Given the description of an element on the screen output the (x, y) to click on. 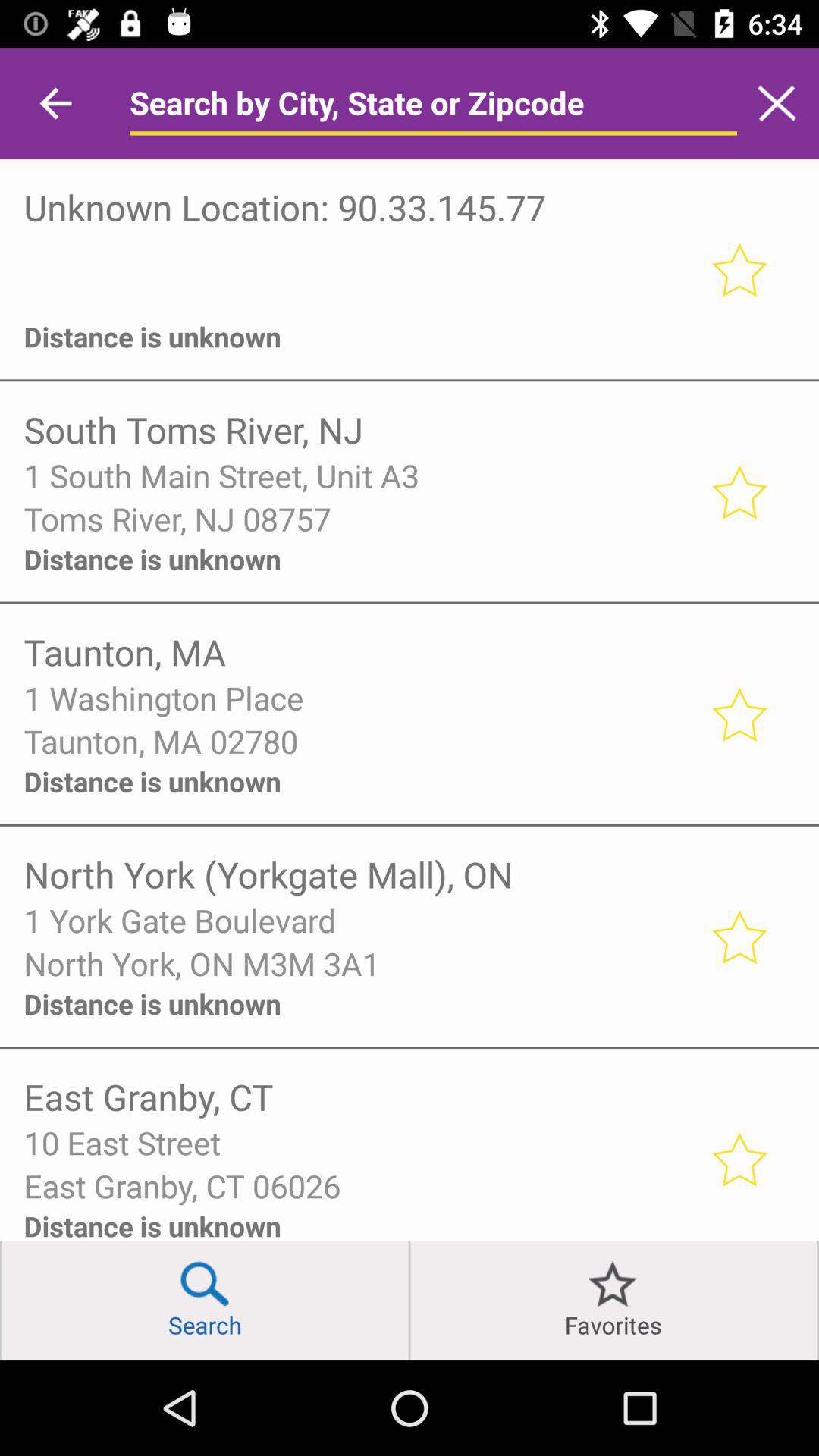
interested to participation (738, 713)
